Given the description of an element on the screen output the (x, y) to click on. 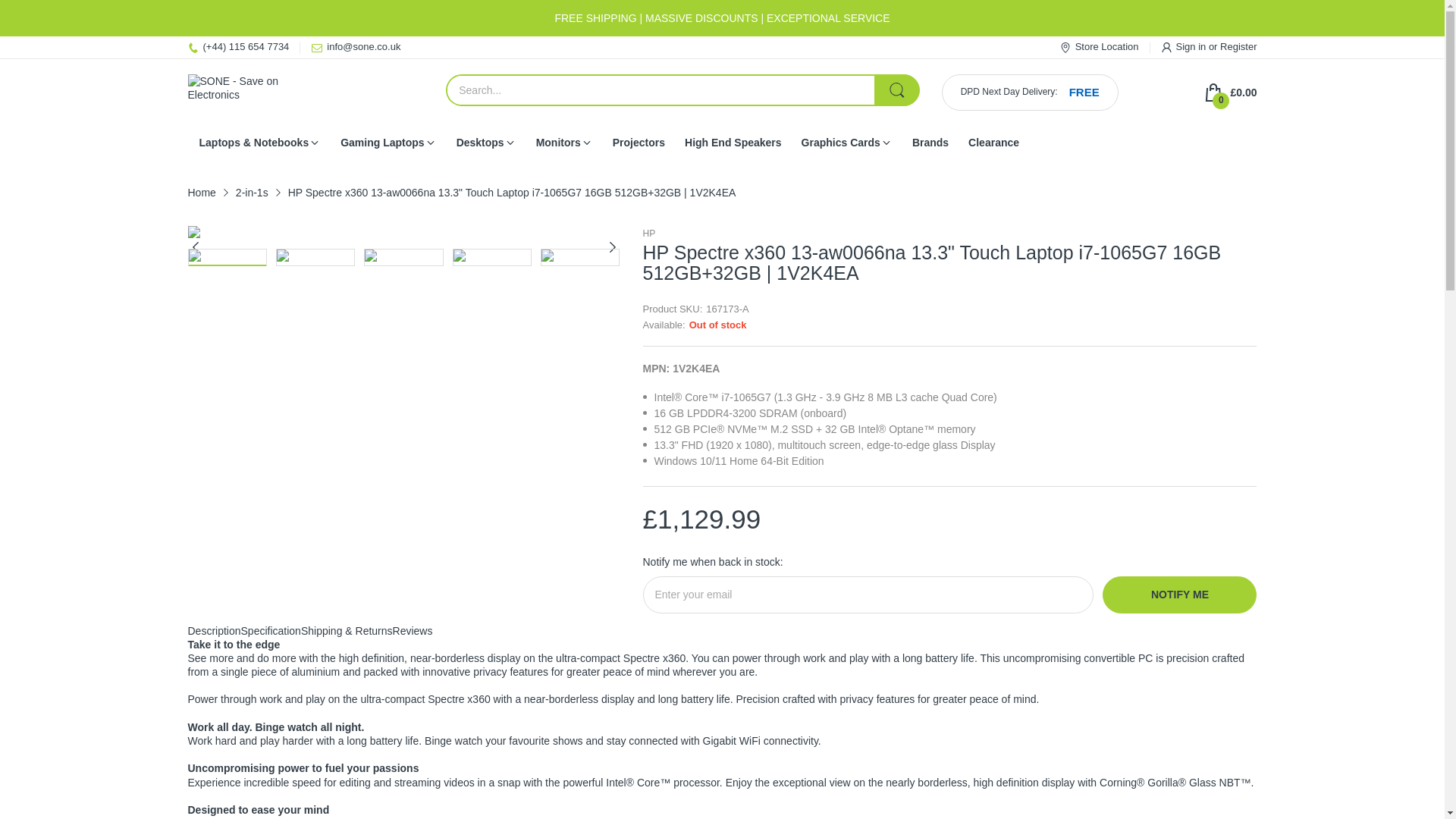
Brands (930, 142)
NOTIFY ME (1179, 594)
2-in-1s (251, 192)
Desktops (480, 142)
Store Location (1098, 47)
Clearance (993, 142)
Monitors (557, 142)
Home (201, 192)
Projectors (638, 142)
Gaming Laptops (381, 142)
Sign in (1192, 46)
HP (649, 234)
Register (1238, 46)
High End Speakers (732, 142)
Graphics Cards (841, 142)
